Given the description of an element on the screen output the (x, y) to click on. 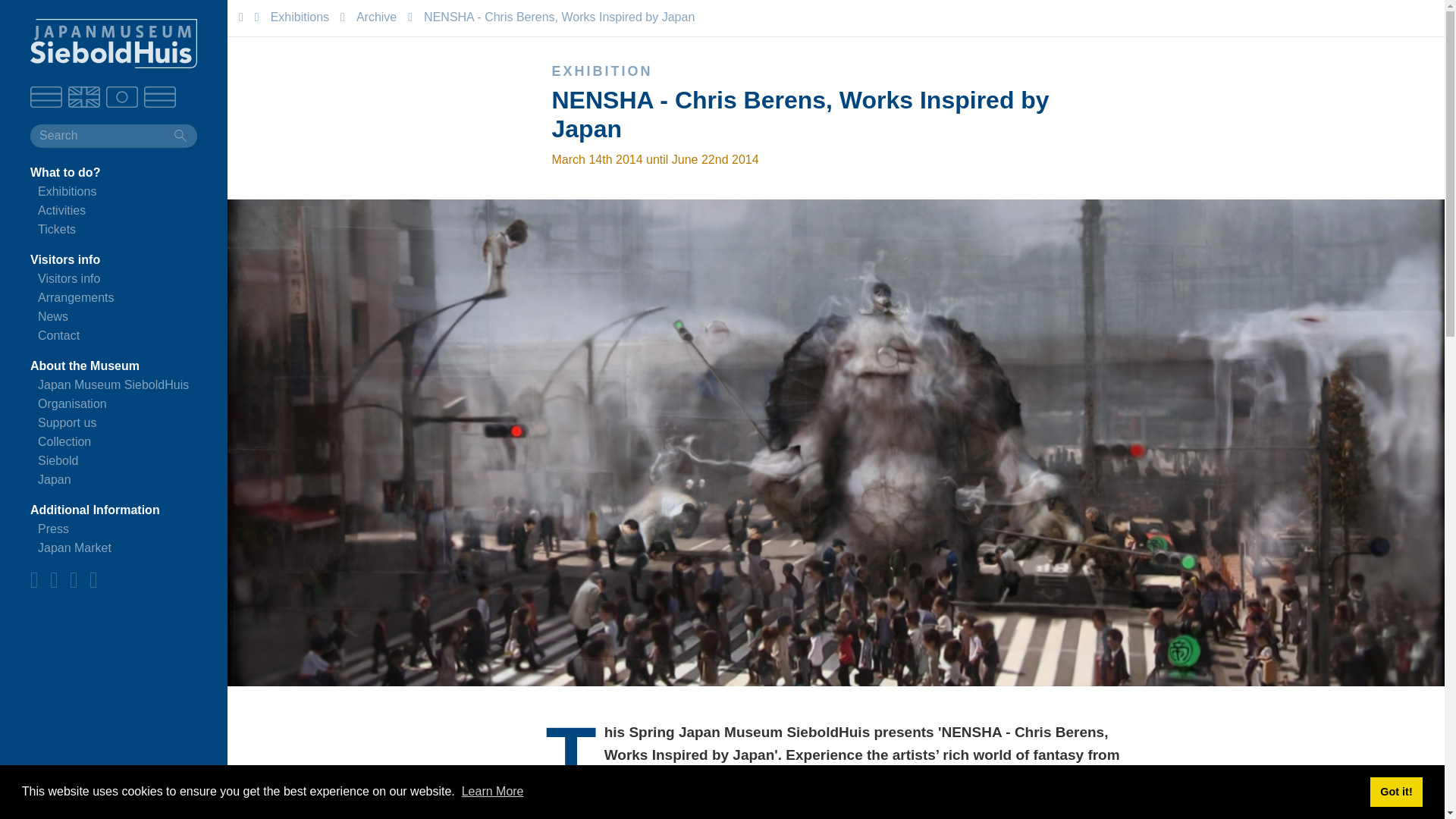
Support us (66, 422)
Exhibitions (299, 16)
Learn More (492, 790)
Organisation (71, 403)
Japan Museum SieboldHuis (113, 384)
Tickets (56, 228)
Got it! (1396, 791)
Contact (58, 335)
Siebold (57, 460)
Arrangements (76, 297)
Collection (63, 440)
Japan Market (74, 547)
Archive (376, 16)
Press (52, 528)
News (52, 316)
